Given the description of an element on the screen output the (x, y) to click on. 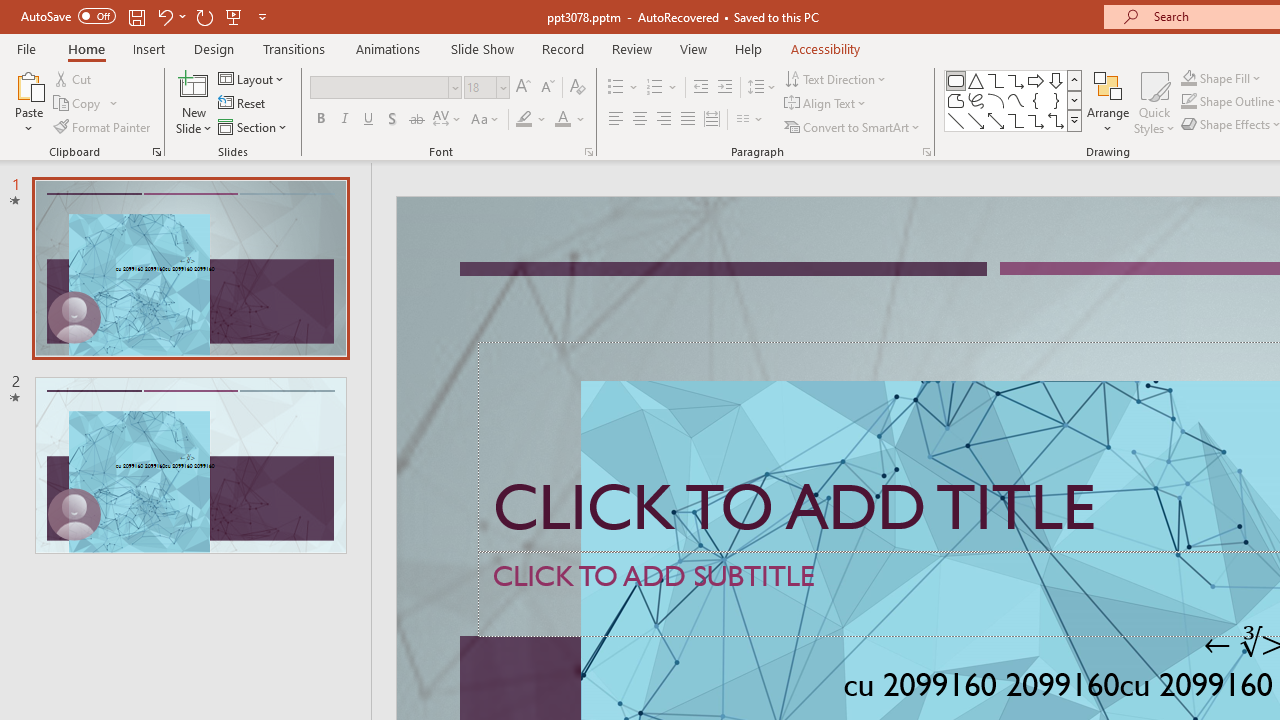
Line Arrow: Double (995, 120)
